Given the description of an element on the screen output the (x, y) to click on. 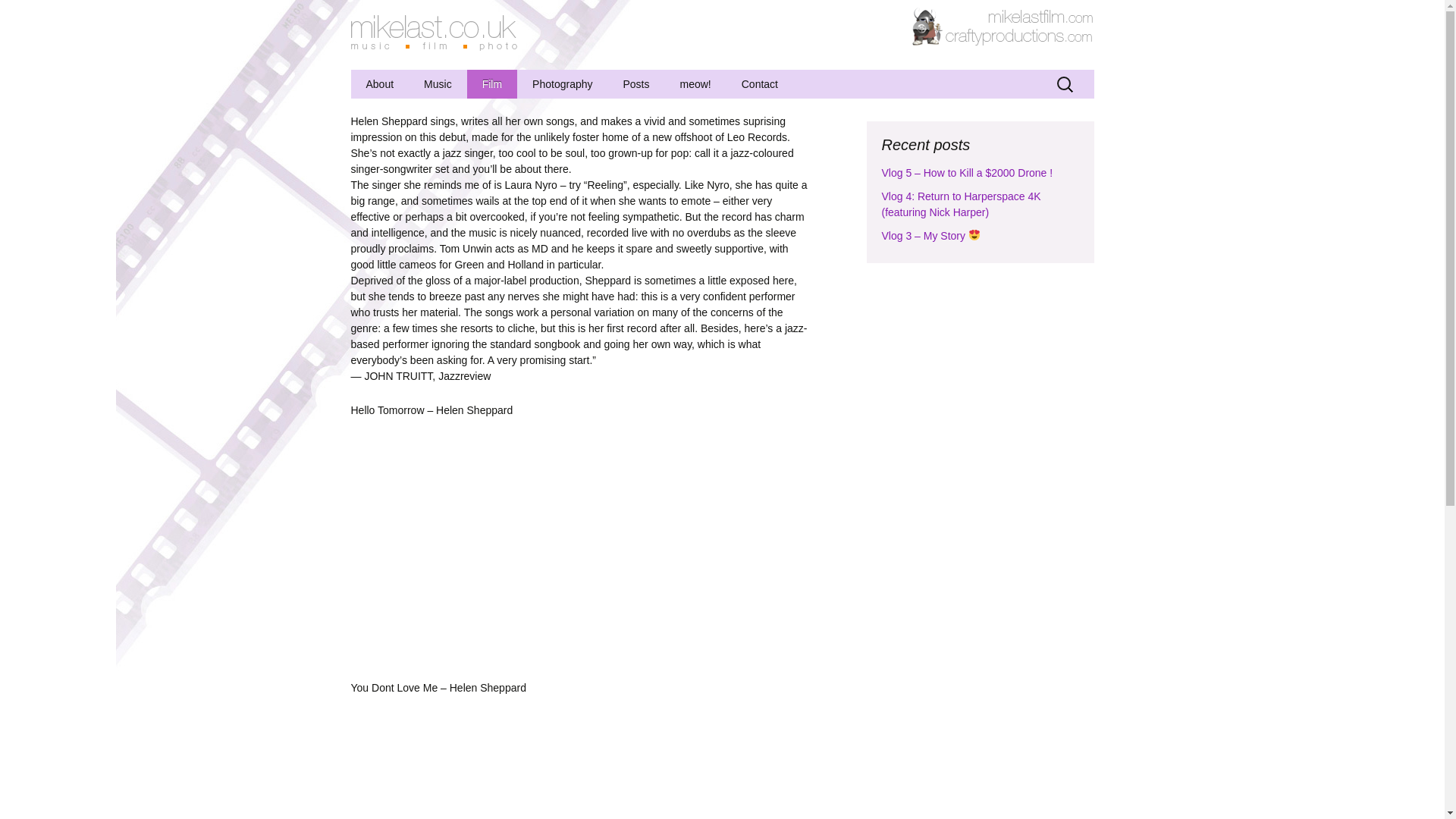
Film (491, 83)
Posts (636, 83)
Mike Last (435, 34)
Search (18, 14)
meow! (695, 83)
Photography (561, 83)
CraftyProductions.com (1002, 26)
MikeLastFilm.com (1040, 14)
CraftyProductions.com (1002, 26)
Music (438, 83)
Contact (759, 83)
Skip to content (390, 78)
About (379, 83)
MikeLastFilm.com (1040, 14)
Skip to content (390, 78)
